Given the description of an element on the screen output the (x, y) to click on. 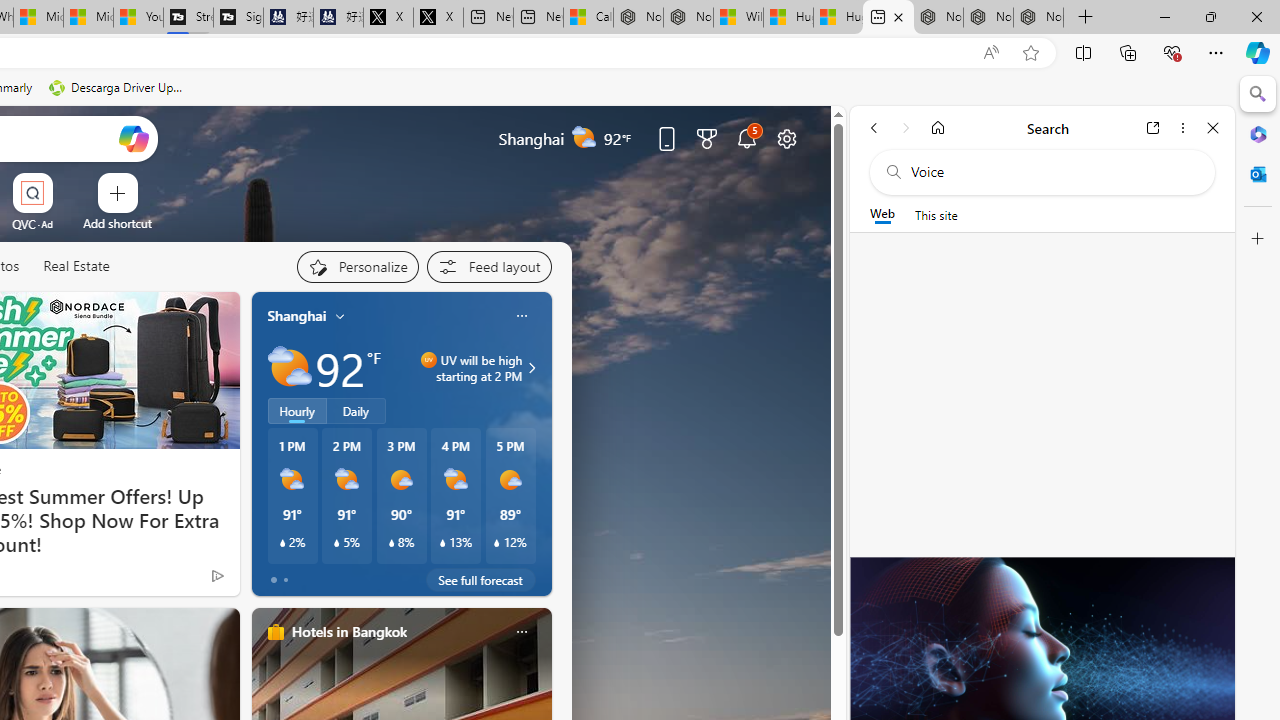
Customize (1258, 239)
Notifications (746, 138)
Class: icon-img (521, 632)
Feed settings (488, 266)
See full forecast (480, 579)
Open link in new tab (1153, 127)
